Given the description of an element on the screen output the (x, y) to click on. 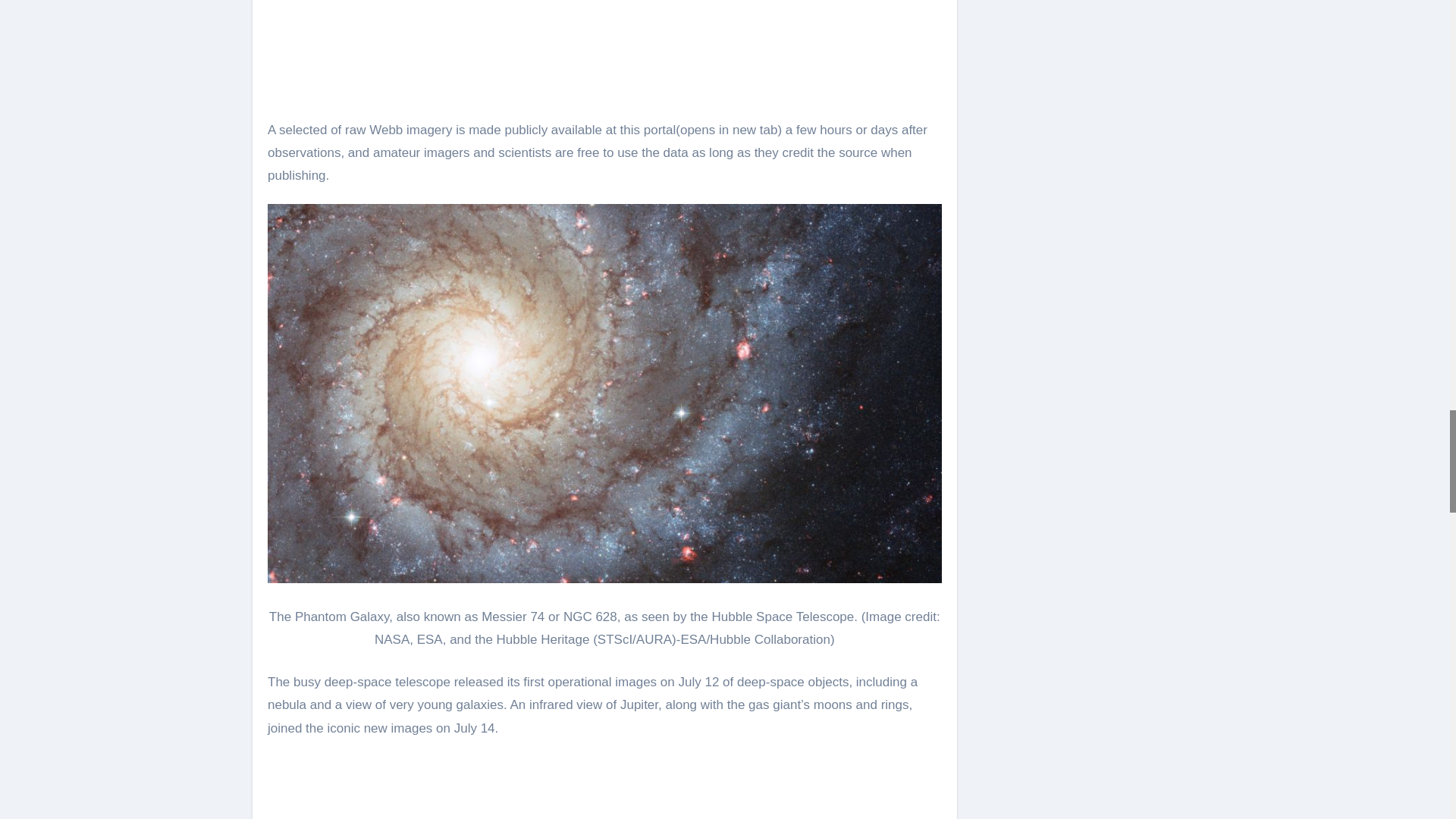
Advertisement (604, 49)
